Given the description of an element on the screen output the (x, y) to click on. 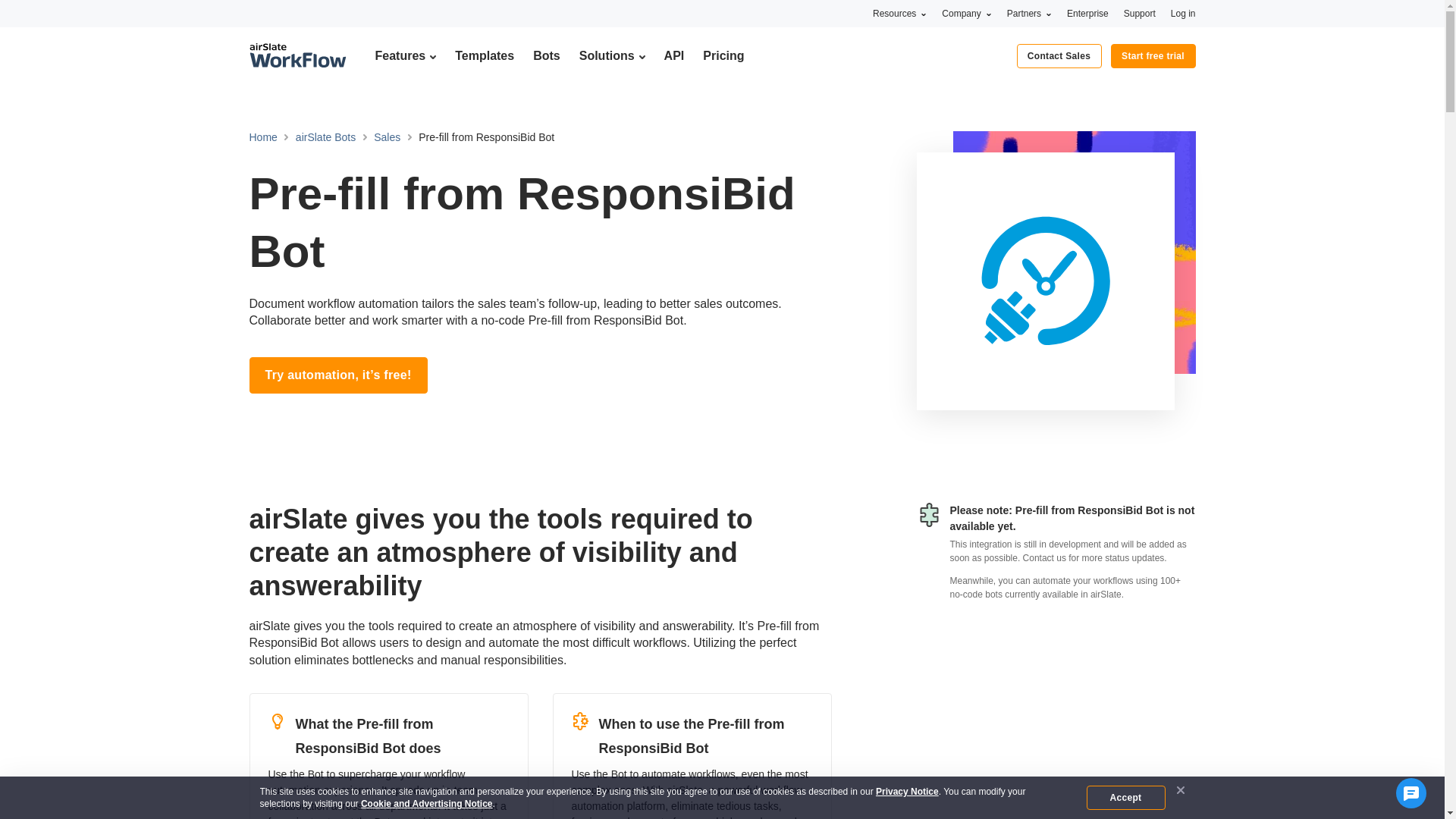
Resources (899, 13)
Partners (1029, 13)
Support (1140, 13)
Templates (483, 55)
Enterprise (1087, 13)
Company (966, 13)
Log in (1182, 13)
